Given the description of an element on the screen output the (x, y) to click on. 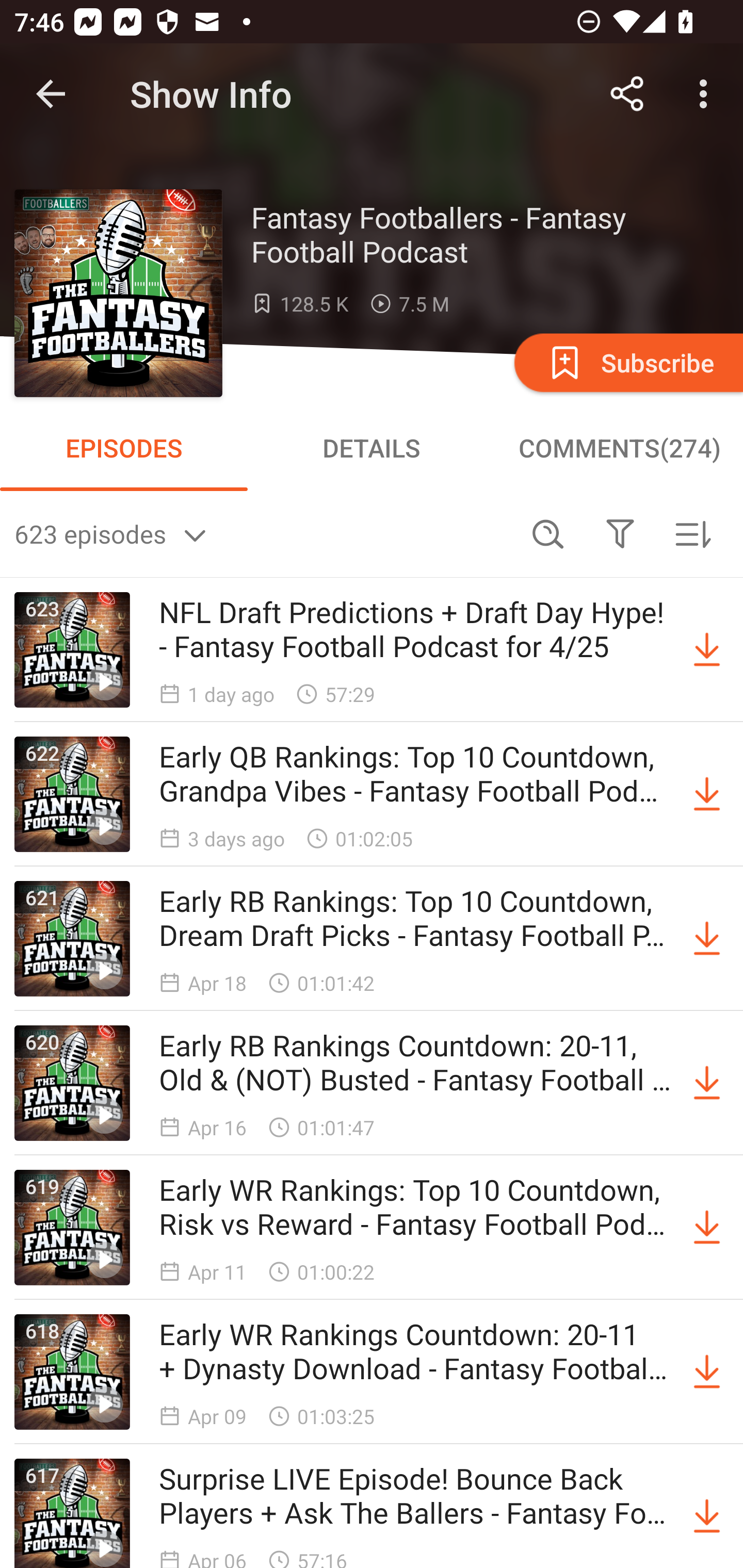
Navigate up (50, 93)
Share (626, 93)
More options (706, 93)
Subscribe (627, 361)
EPISODES (123, 447)
DETAILS (371, 447)
COMMENTS(274) (619, 447)
623 episodes  (262, 533)
 Search (547, 533)
 (619, 533)
 Sorted by newest first (692, 533)
Download (706, 649)
Download (706, 793)
Download (706, 939)
Download (706, 1083)
Download (706, 1227)
Download (706, 1371)
Download (706, 1513)
